Given the description of an element on the screen output the (x, y) to click on. 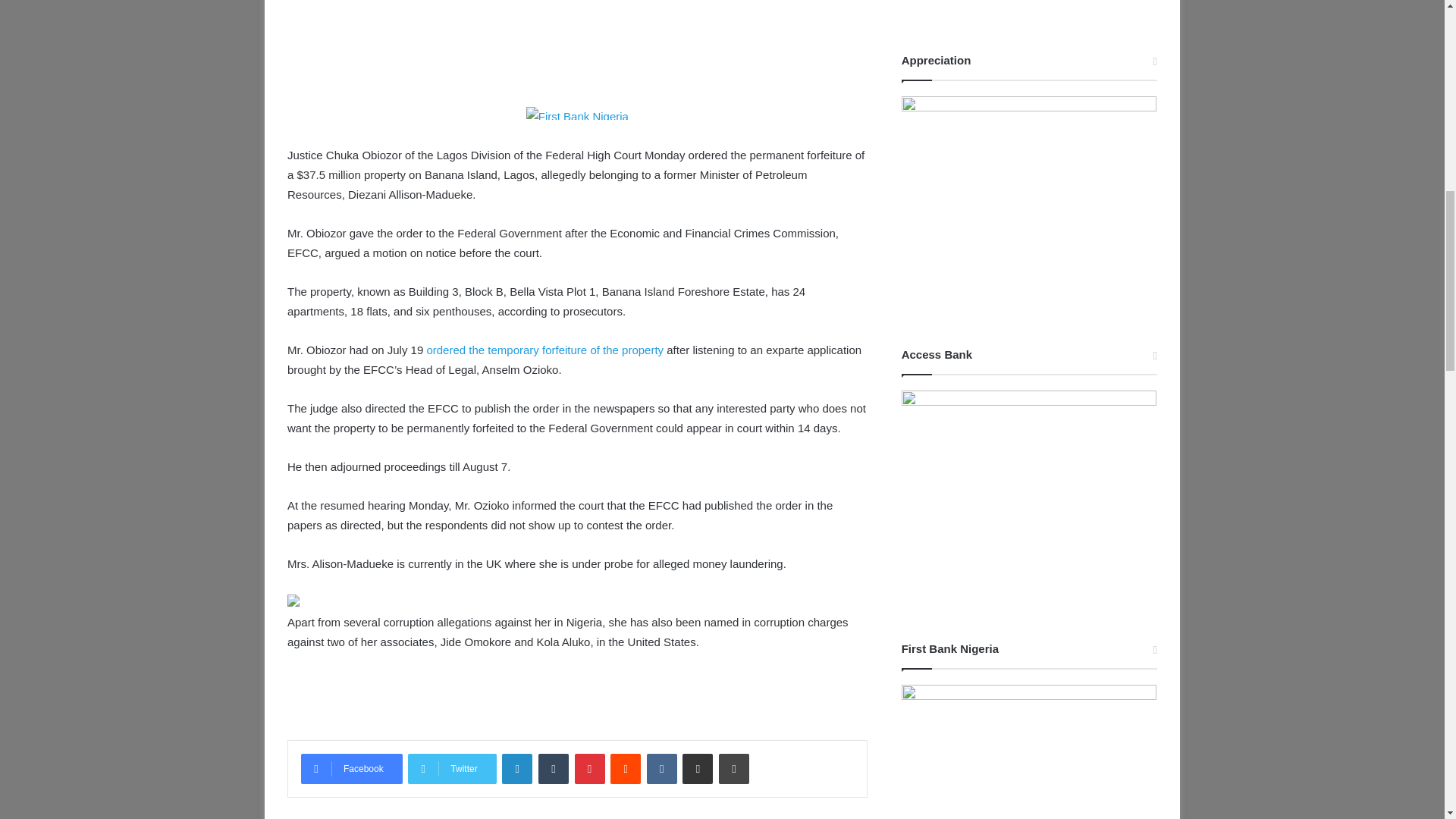
Facebook (352, 768)
LinkedIn (517, 768)
Tumblr (553, 768)
Twitter (451, 768)
First Bank Nigeria (576, 112)
Pinterest (590, 768)
ordered the temporary forfeiture of the property (544, 349)
Facebook (352, 768)
